Given the description of an element on the screen output the (x, y) to click on. 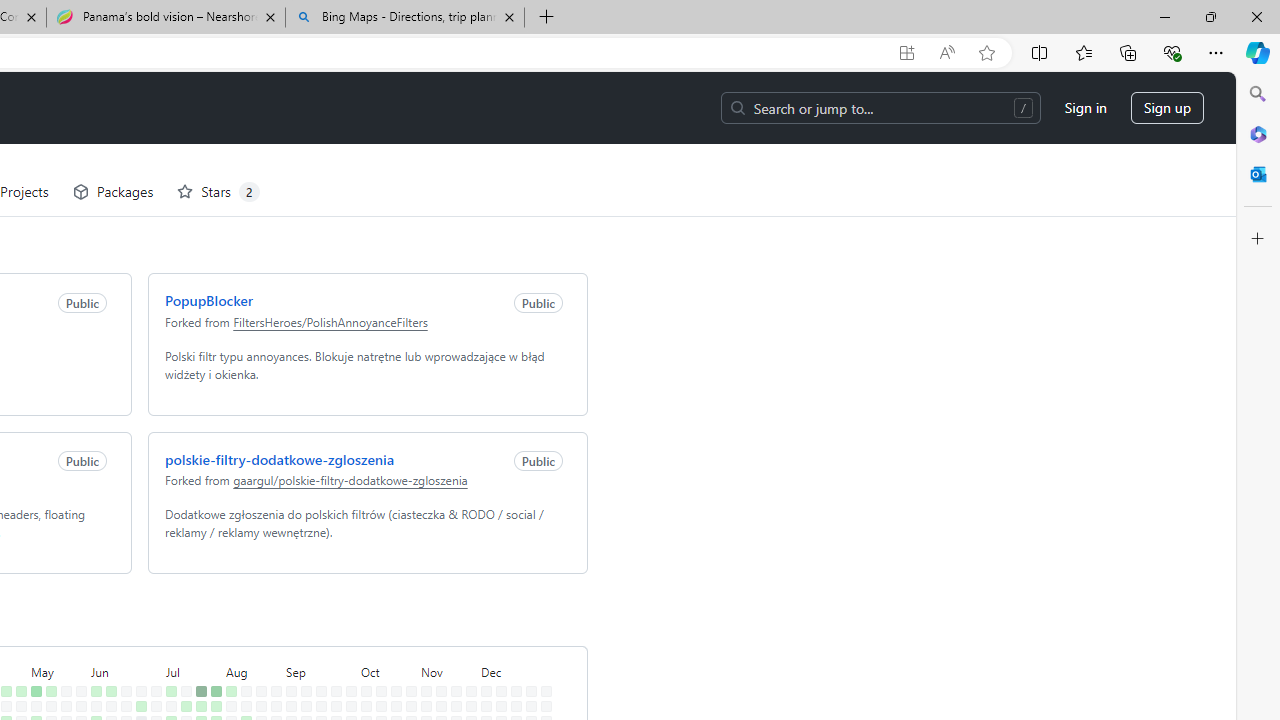
No contributions on December 8th. (497, 619)
No contributions on October 23rd. (392, 664)
